Given the description of an element on the screen output the (x, y) to click on. 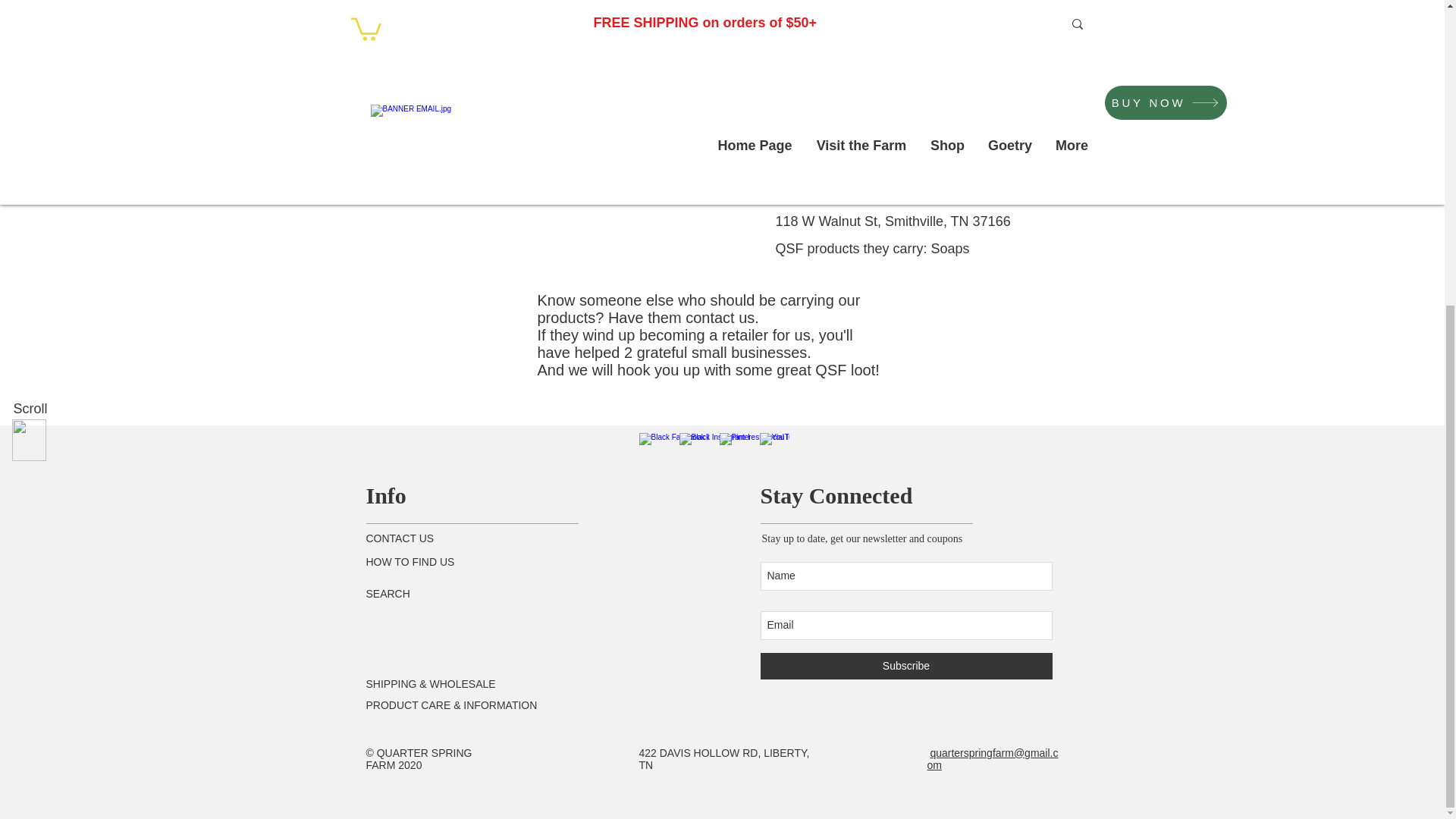
CONTACT US (399, 538)
www.mainstreetmurfreesboro.org (450, 84)
HOW TO FIND US (409, 562)
Subscribe (905, 665)
SEARCH (387, 593)
